Given the description of an element on the screen output the (x, y) to click on. 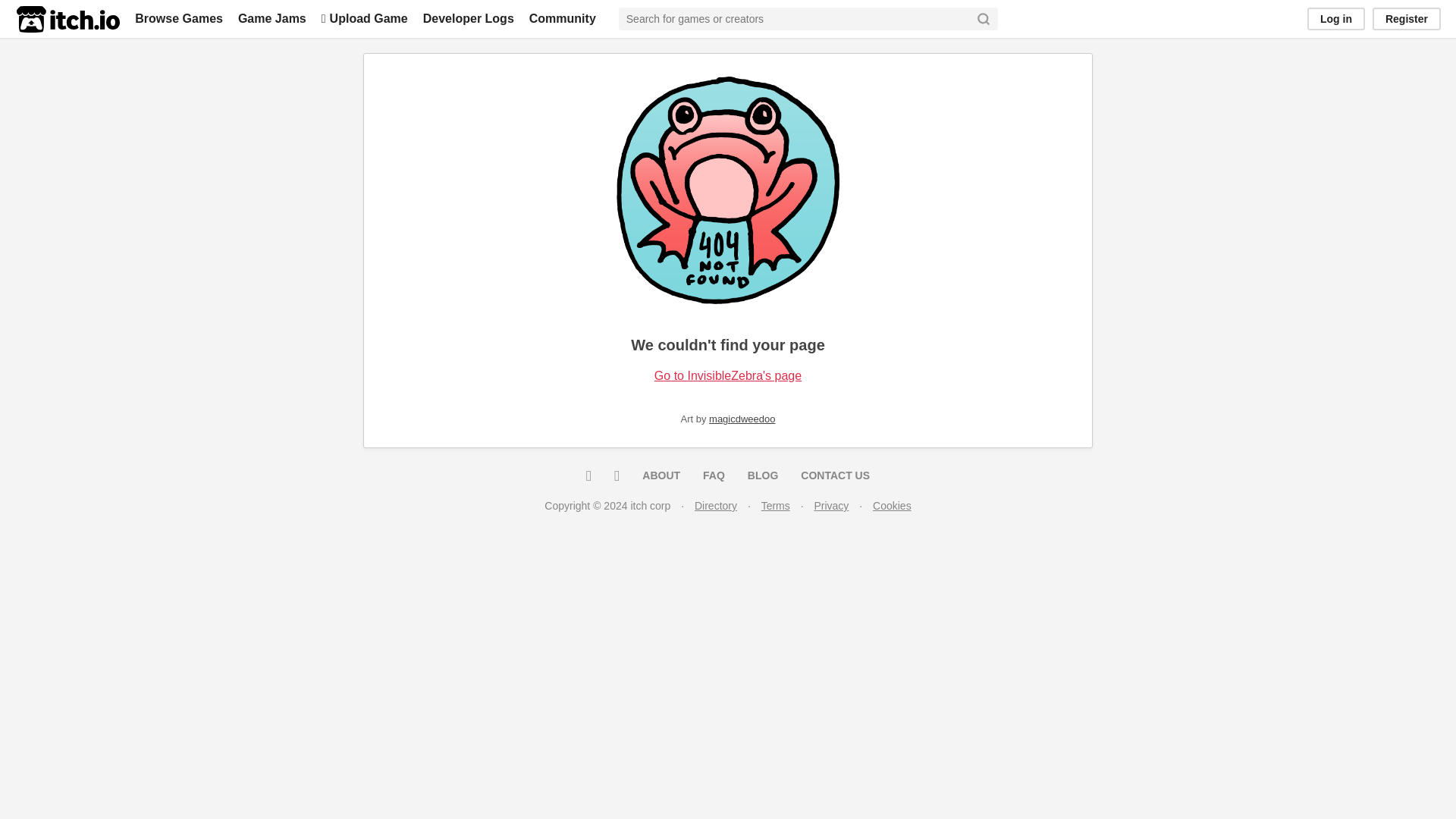
Directory (715, 505)
ABOUT (660, 475)
Privacy (830, 505)
Game Jams (271, 18)
magicdweedoo (741, 419)
Upload Game (364, 18)
CONTACT US (834, 475)
Browse Games (178, 18)
Terms (775, 505)
Register (1407, 18)
ITCH.IO ON TWITTER (588, 475)
FAQ (713, 475)
ITCH.IO ON FACEBOOK (616, 475)
Go to InvisibleZebra's page (727, 375)
BLOG (762, 475)
